Given the description of an element on the screen output the (x, y) to click on. 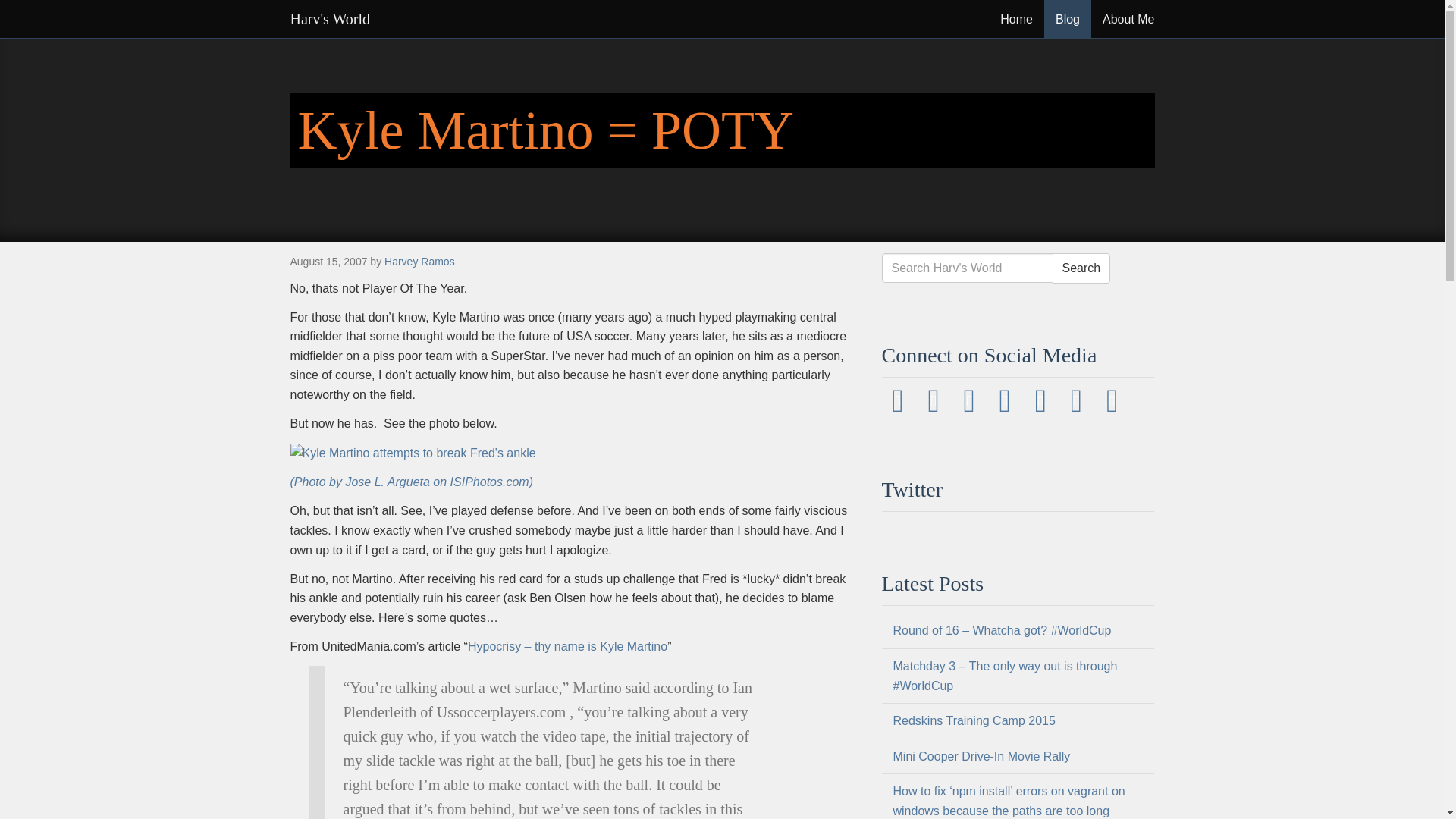
link to ISIPhotos.com. Photo by Jose L. Argueta (412, 451)
Facebook (935, 400)
GitHub (1042, 400)
Photos from ISIPhotos.com, photo by Jose L. Argueta (410, 481)
Instagram (970, 400)
About Me (1128, 18)
Harvey Ramos (419, 261)
LinkedIn (1077, 400)
Kyle Martino attempts to break Fred's ankle (412, 453)
Home (1015, 18)
Hypocrisy - Thy Name is Kyle Martino (566, 645)
Twitter (898, 400)
Redskins Training Camp 2015 (974, 720)
YouTube (1112, 400)
Mini Cooper Drive-In Movie Rally (981, 756)
